Given the description of an element on the screen output the (x, y) to click on. 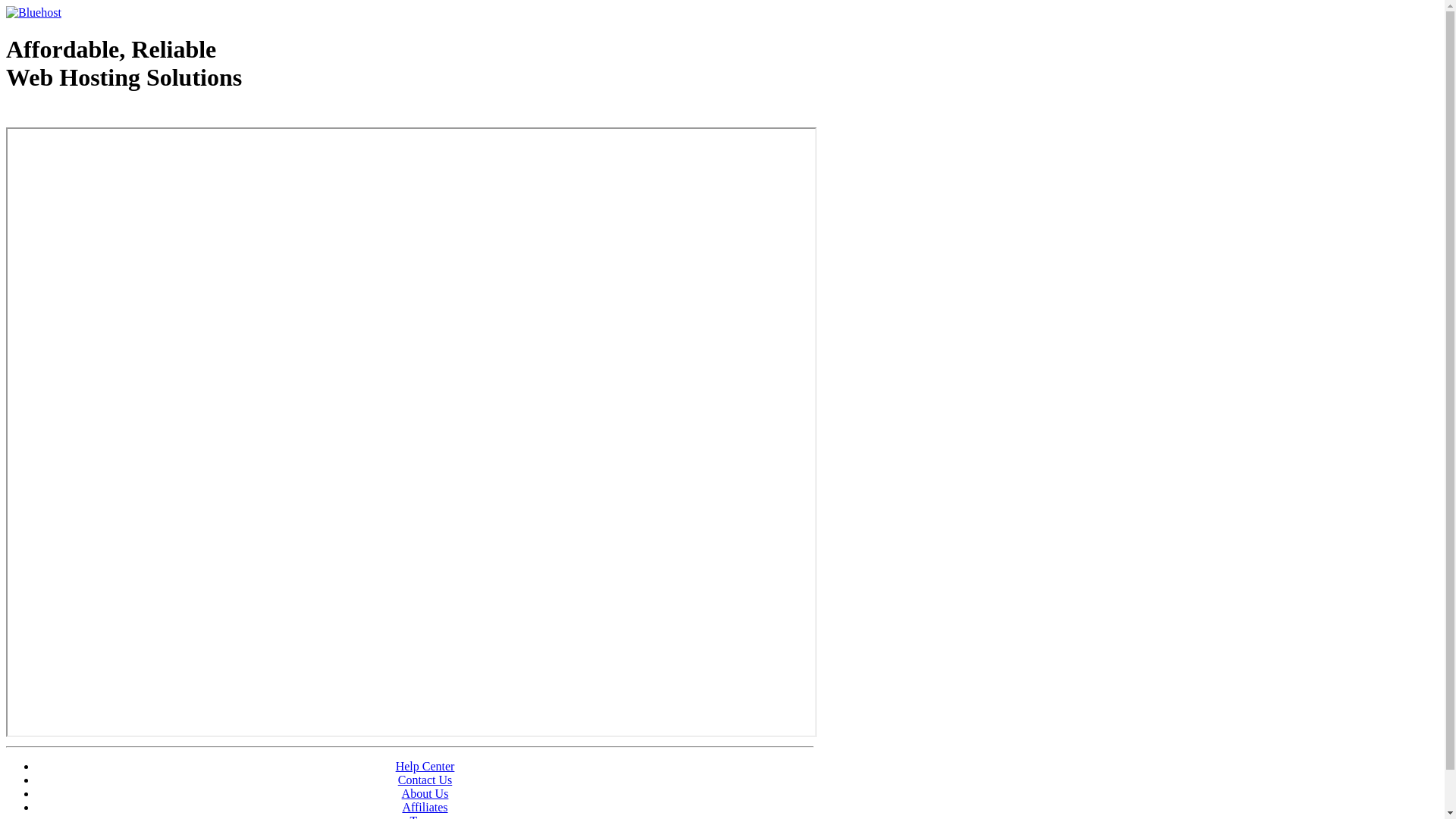
Contact Us Element type: text (425, 779)
About Us Element type: text (424, 793)
Web Hosting - courtesy of www.bluehost.com Element type: text (94, 115)
Affiliates Element type: text (424, 806)
Help Center Element type: text (425, 765)
